Given the description of an element on the screen output the (x, y) to click on. 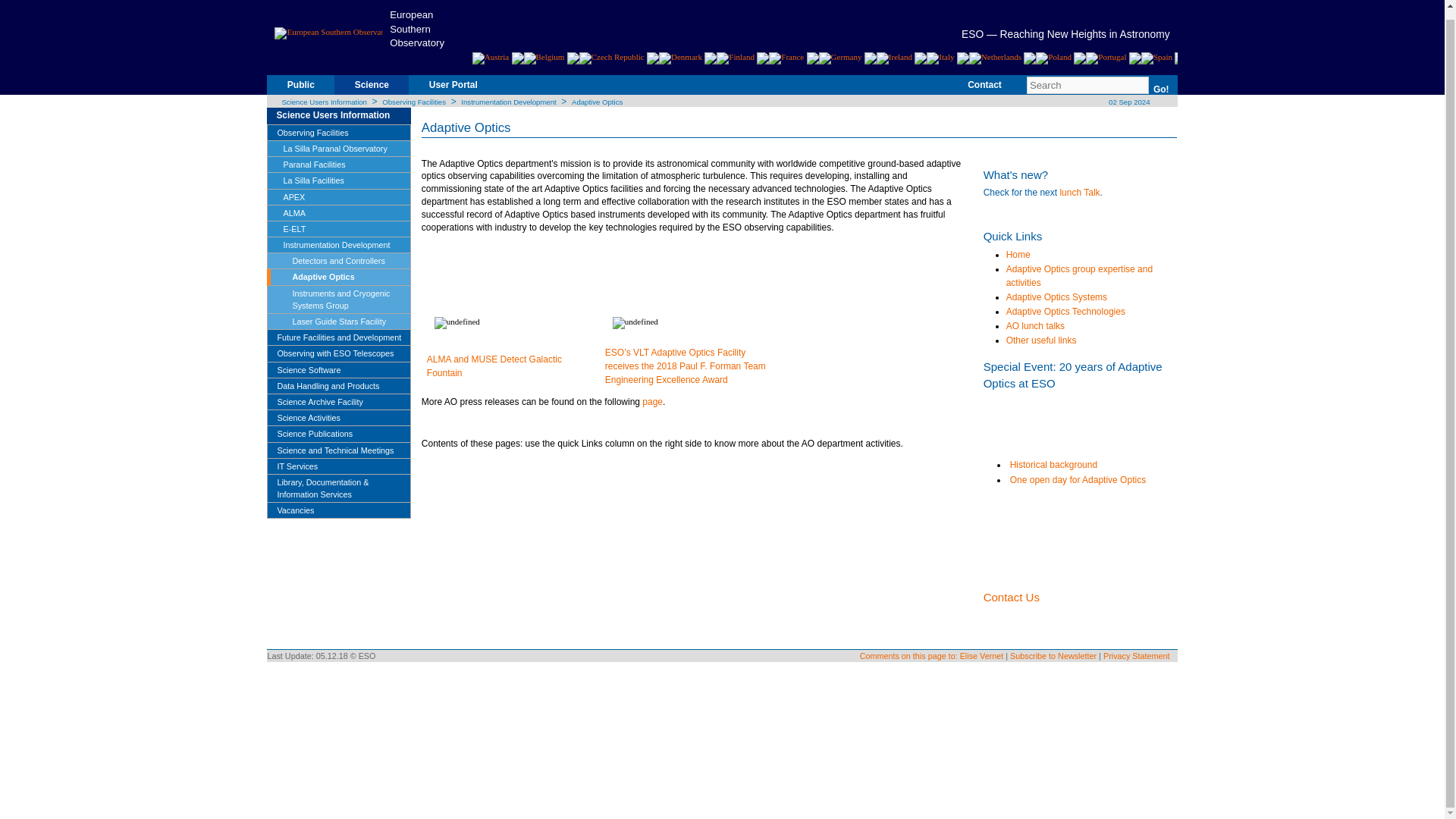
Adaptive Optics (597, 101)
Instrumentation Development (508, 101)
Science Users Information (343, 115)
Ireland (894, 58)
Finland (735, 58)
France (785, 58)
02 Sep 2024 (1128, 101)
Search (1087, 85)
Science (371, 90)
Observing Facilities (413, 101)
